Given the description of an element on the screen output the (x, y) to click on. 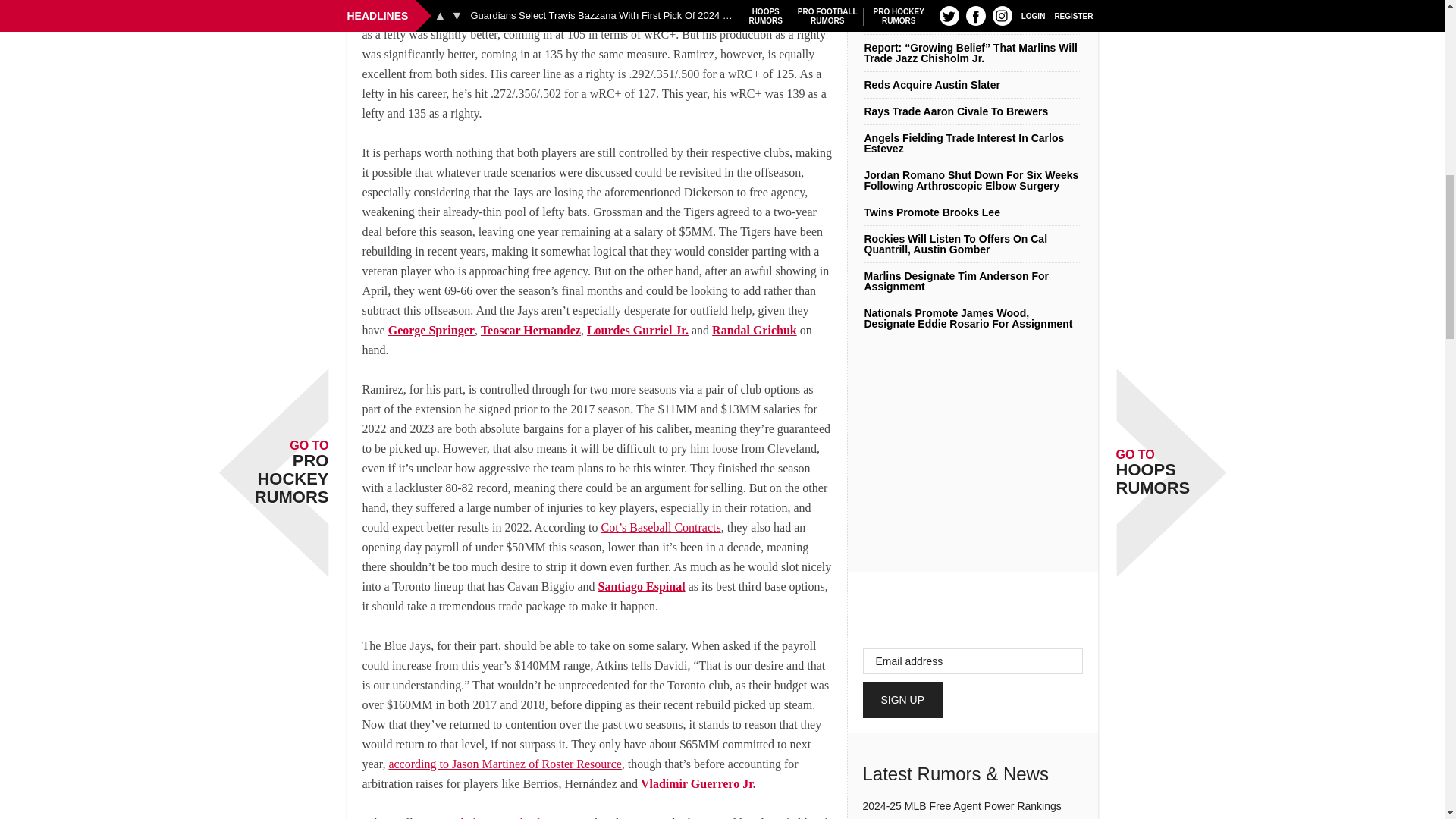
Sign Up (903, 699)
